Given the description of an element on the screen output the (x, y) to click on. 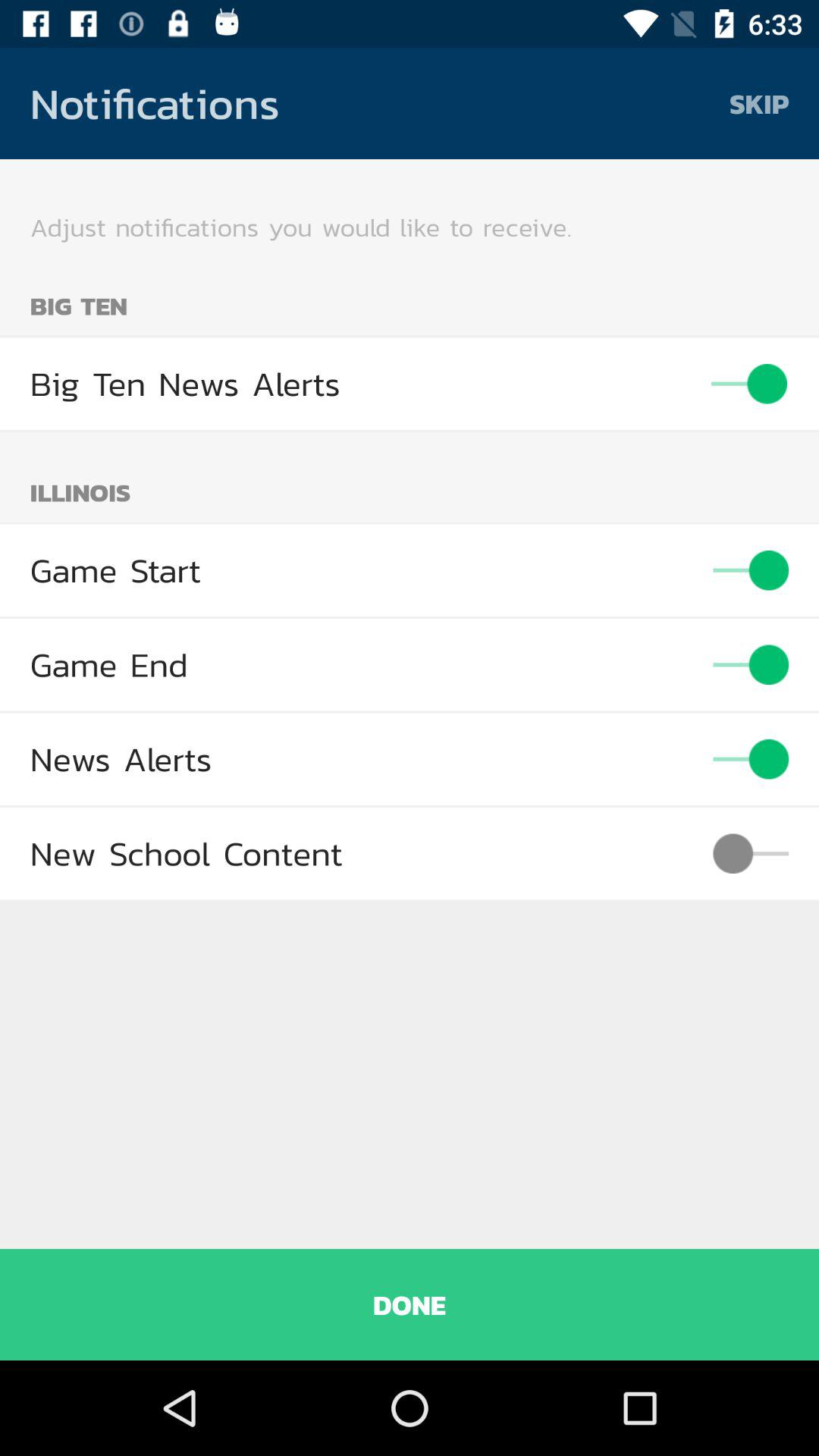
flip until the done item (409, 1304)
